Given the description of an element on the screen output the (x, y) to click on. 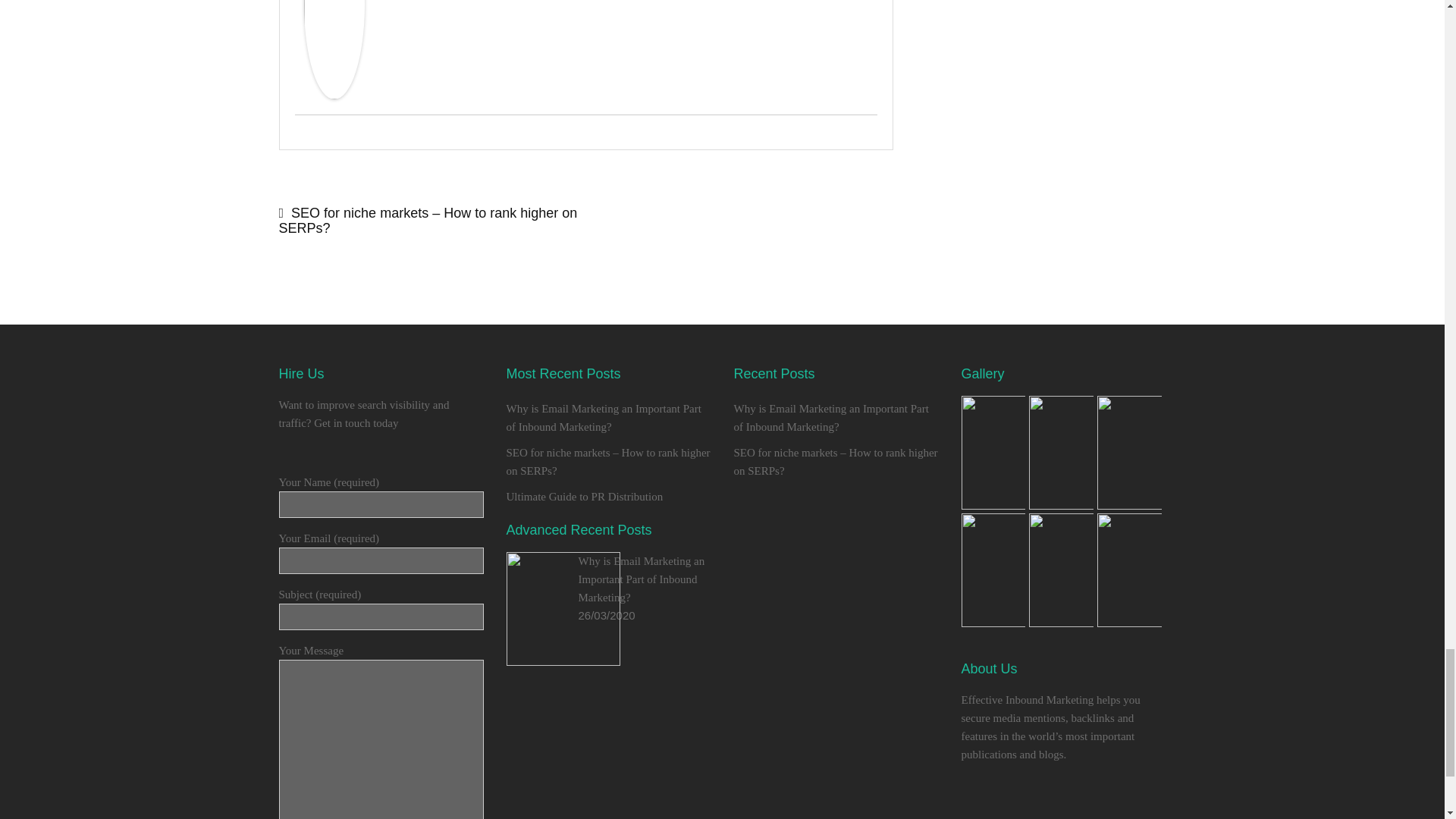
Bharti (333, 95)
